Given the description of an element on the screen output the (x, y) to click on. 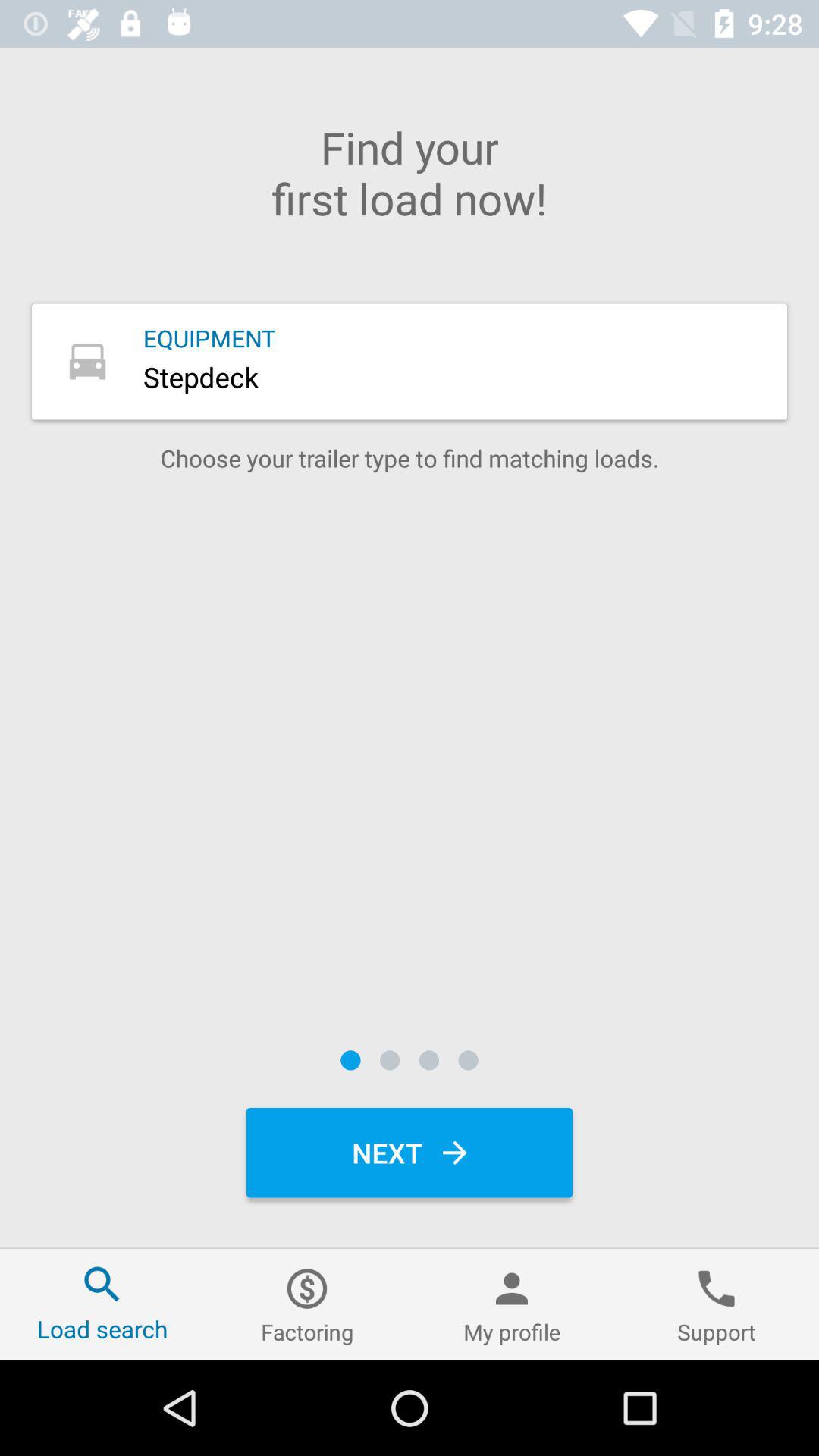
turn on icon next to factoring item (511, 1304)
